Given the description of an element on the screen output the (x, y) to click on. 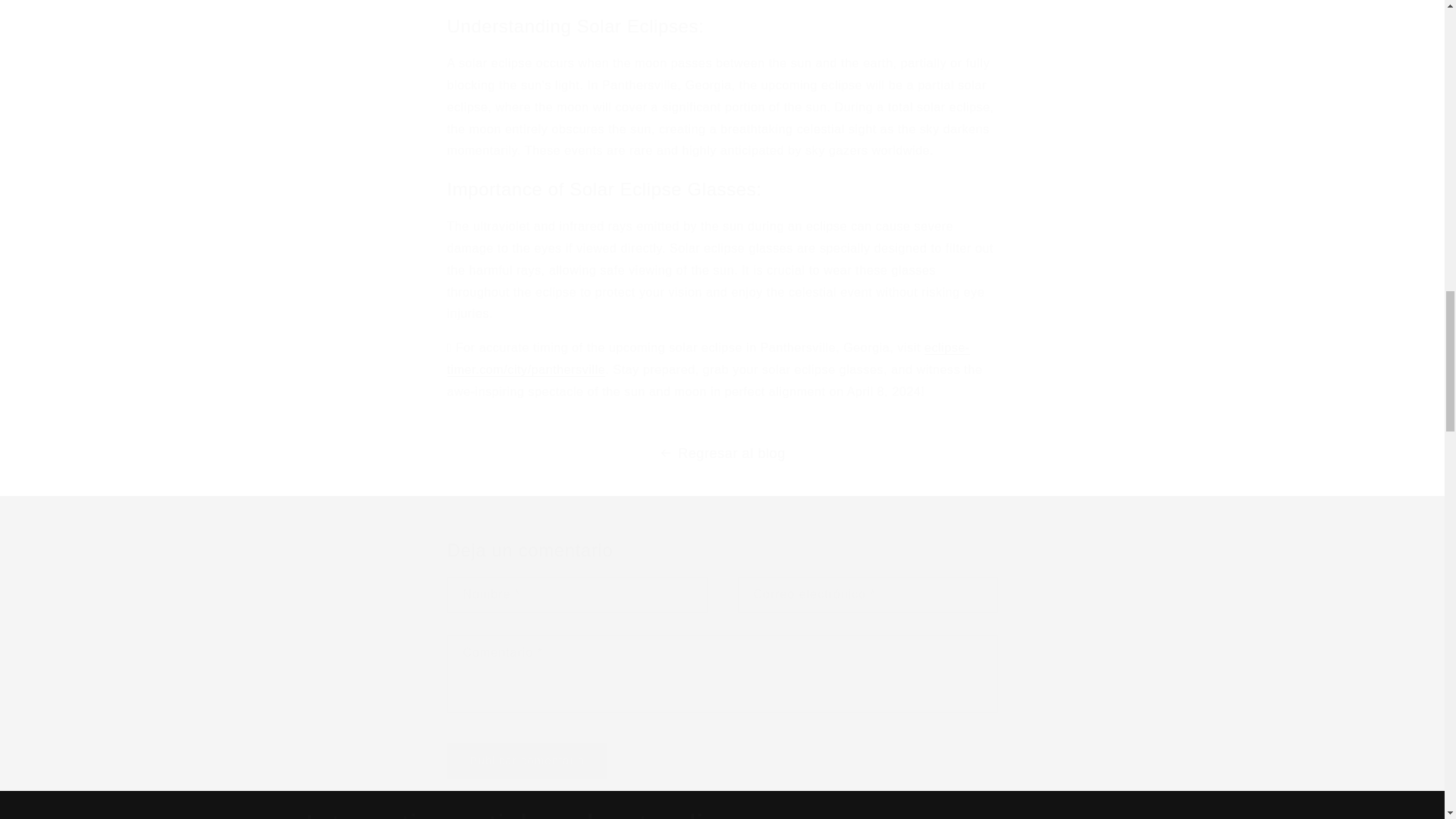
Interesting articles about eclipses (536, 812)
Publicar comentario (527, 760)
Publicar comentario (527, 760)
